Given the description of an element on the screen output the (x, y) to click on. 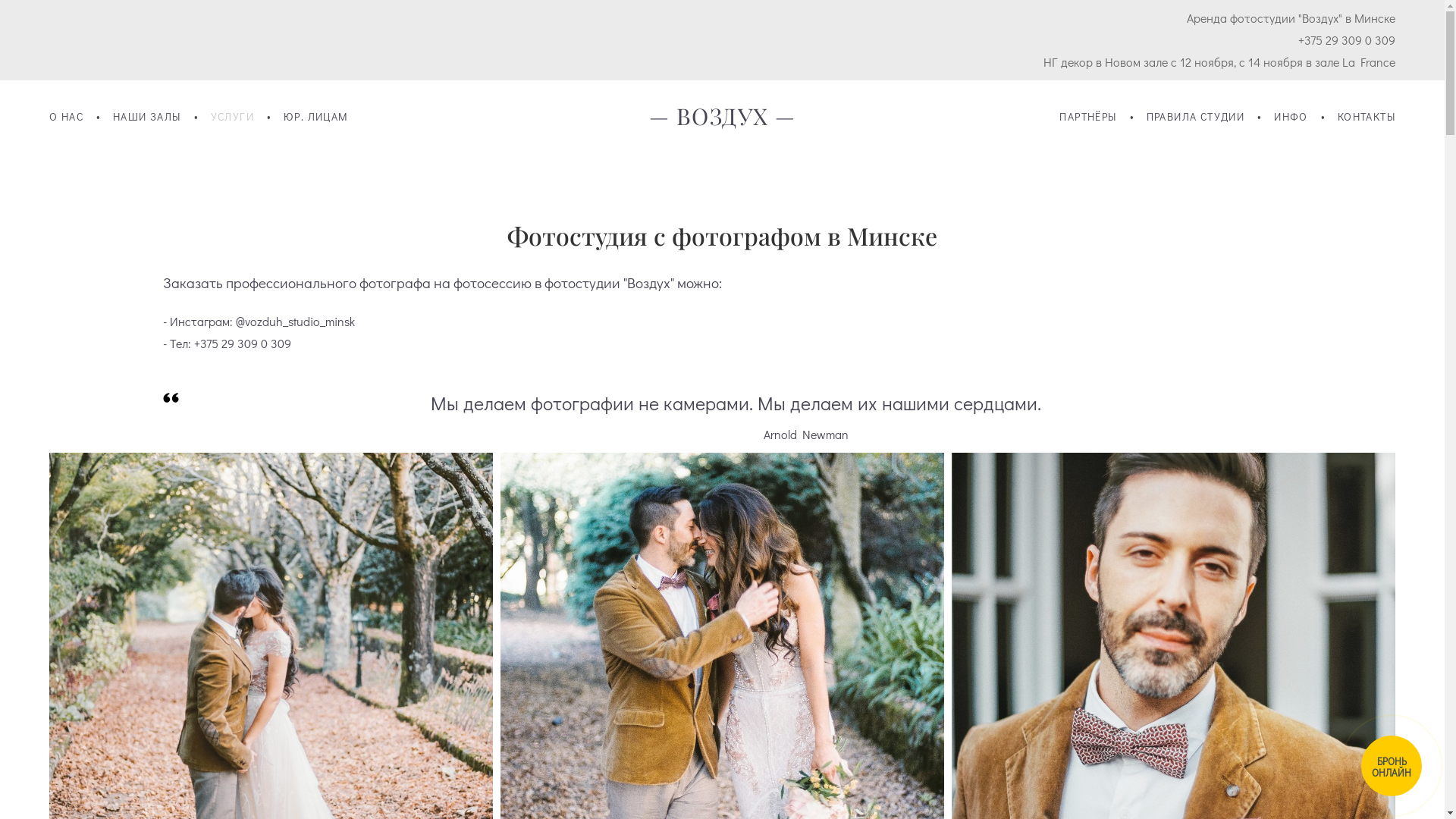
@ Element type: text (239, 321)
+ Element type: text (197, 343)
